Given the description of an element on the screen output the (x, y) to click on. 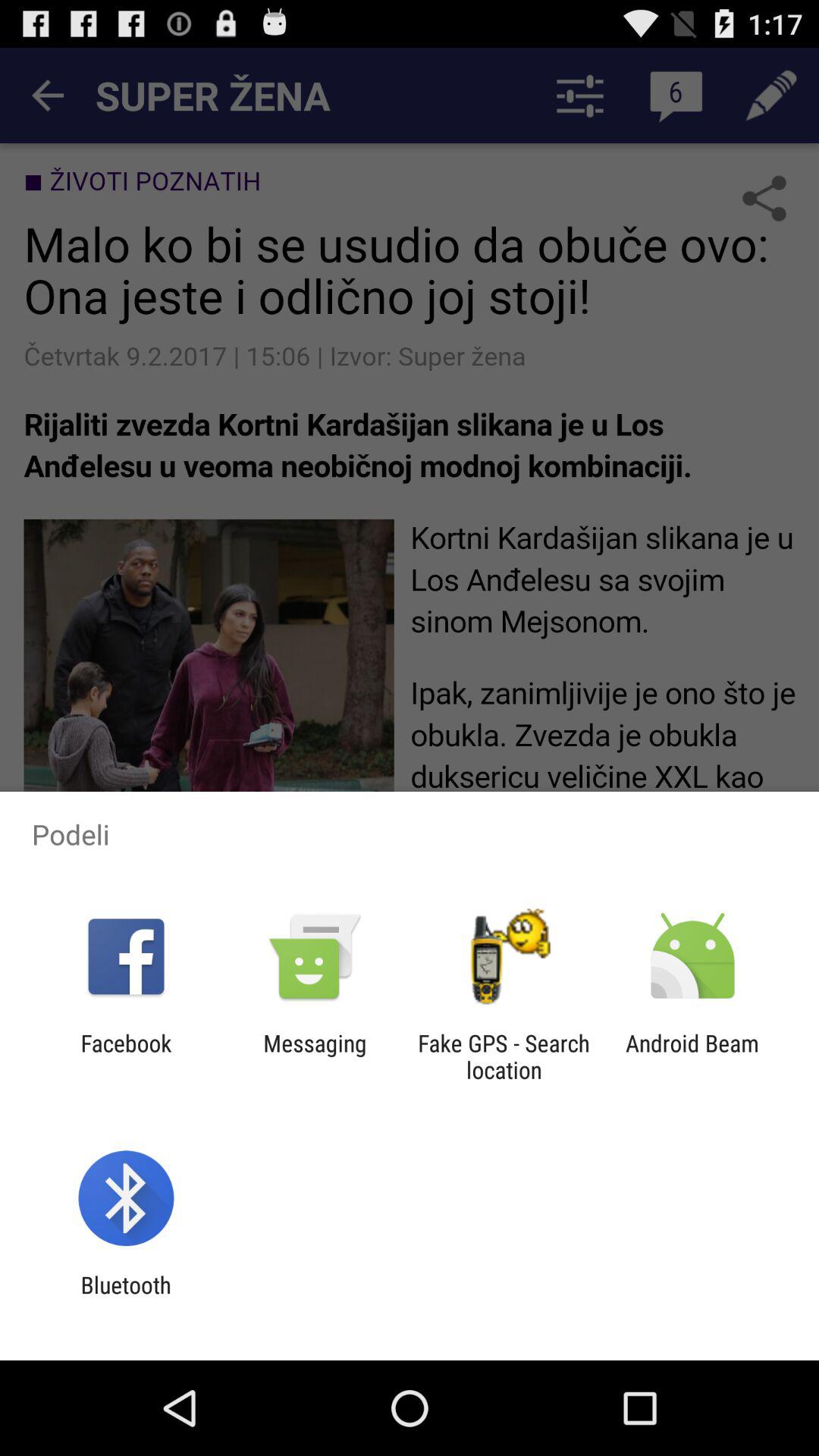
select the android beam icon (692, 1056)
